Given the description of an element on the screen output the (x, y) to click on. 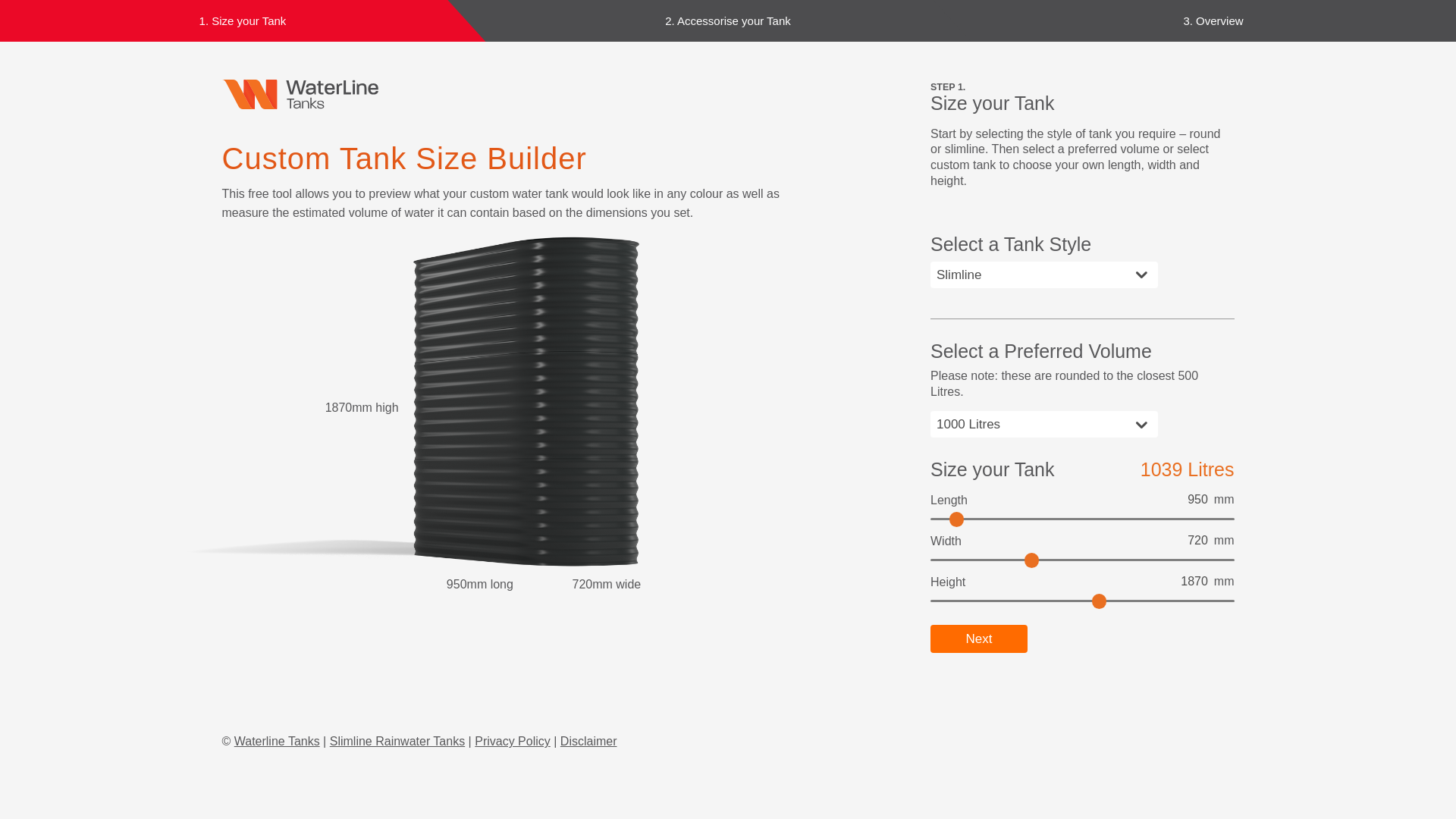
Privacy Policy Element type: text (512, 740)
Slimline Rainwater Tanks Element type: text (396, 740)
2. Accessorise your Tank Element type: text (727, 20)
1. Size your Tank Element type: text (242, 20)
Next Element type: text (978, 638)
Disclaimer Element type: text (588, 740)
Waterline Tanks Element type: text (277, 740)
